Given the description of an element on the screen output the (x, y) to click on. 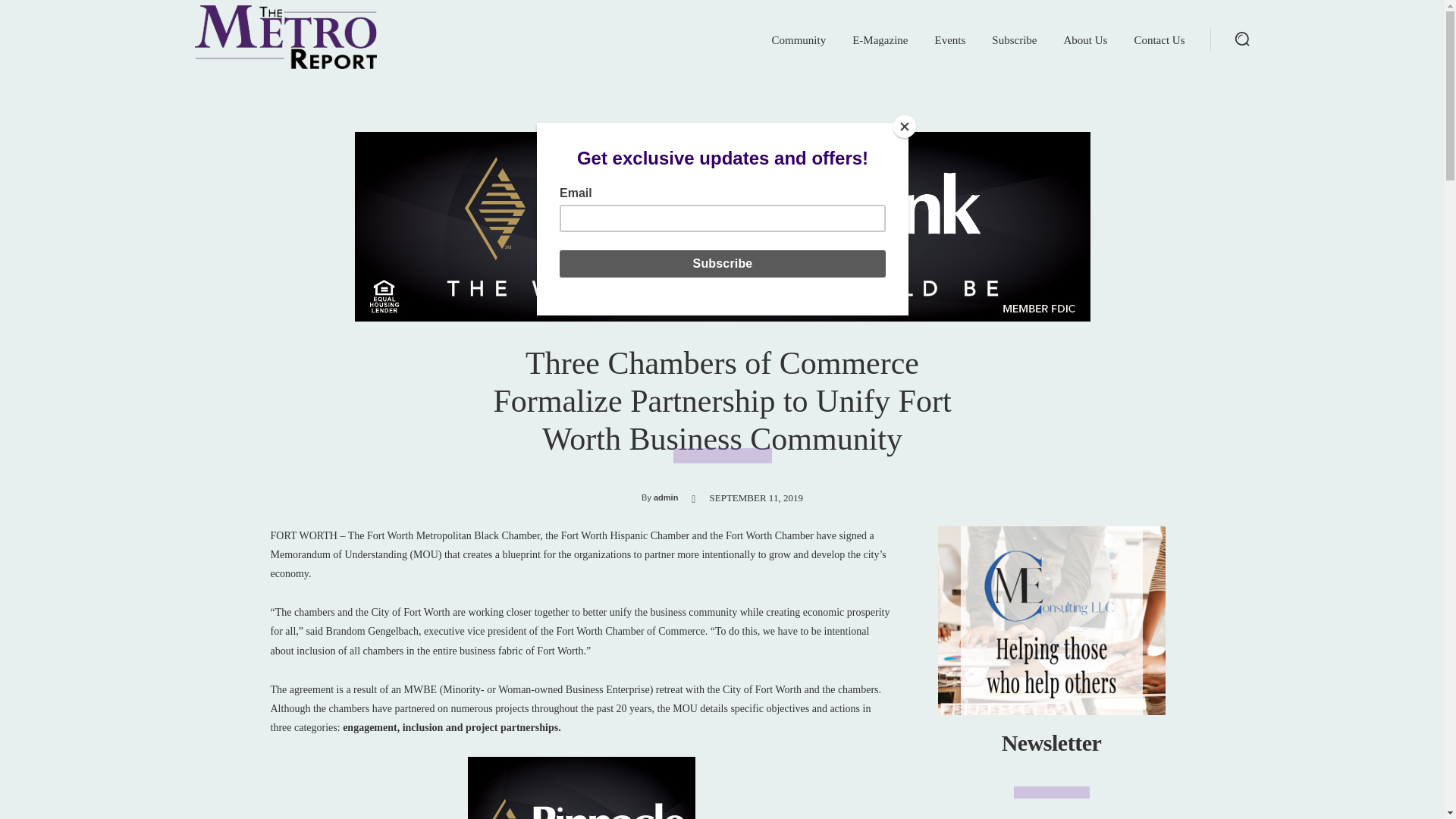
Contact Us (1158, 40)
Community (798, 40)
admin (665, 497)
About Us (1085, 40)
Subscribe (1014, 40)
E-Magazine (879, 40)
Events (950, 40)
